Given the description of an element on the screen output the (x, y) to click on. 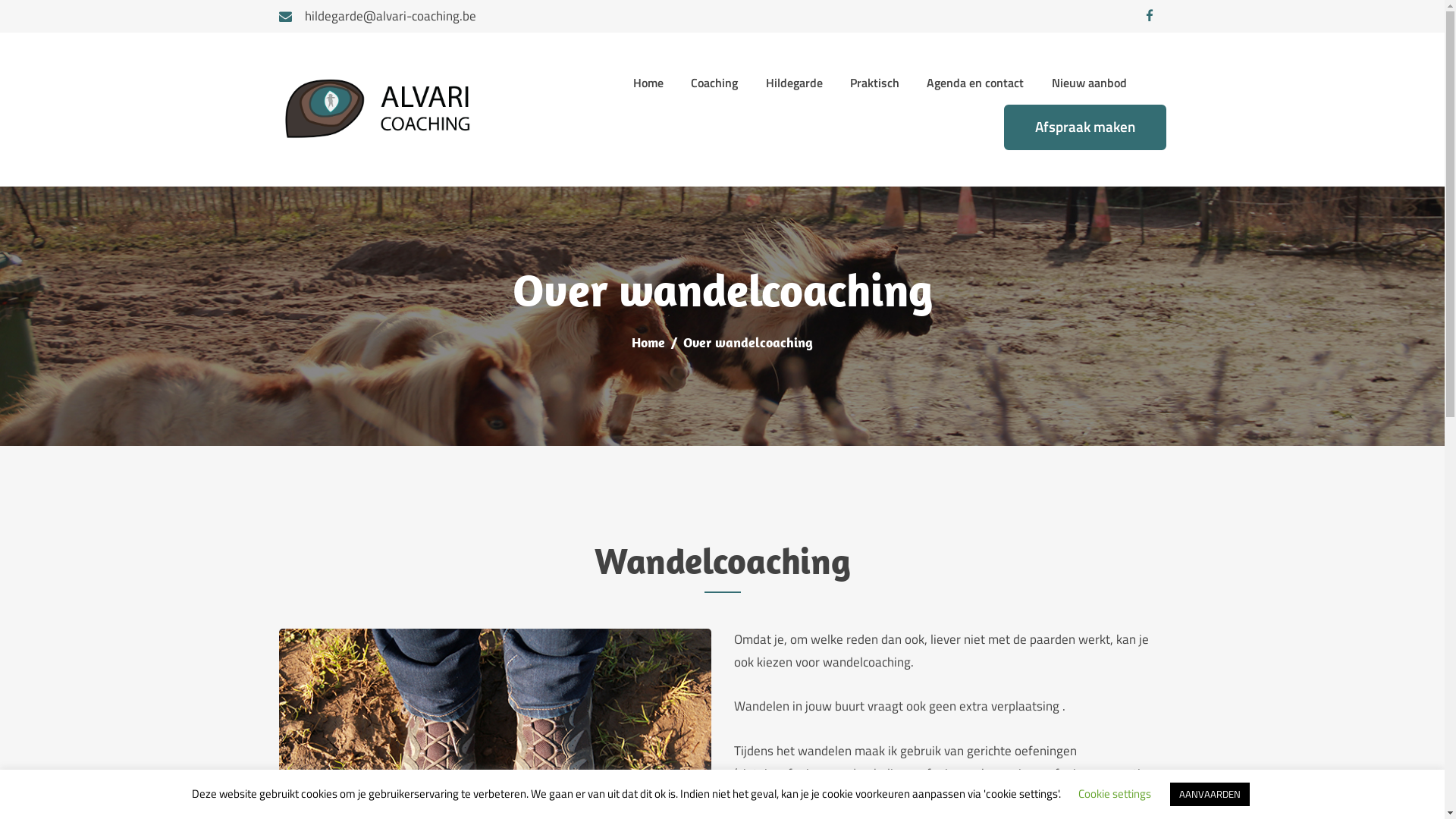
Home Element type: text (647, 82)
Cookie settings Element type: text (1114, 793)
Afspraak maken Element type: text (1085, 127)
Praktisch Element type: text (874, 82)
AANVAARDEN Element type: text (1208, 794)
Hildegarde Element type: text (793, 82)
Coaching Element type: text (714, 82)
Agenda en contact Element type: text (975, 82)
Nieuw aanbod Element type: text (1089, 82)
hildegarde@alvari-coaching.be Element type: text (377, 16)
Home Element type: text (648, 342)
